Given the description of an element on the screen output the (x, y) to click on. 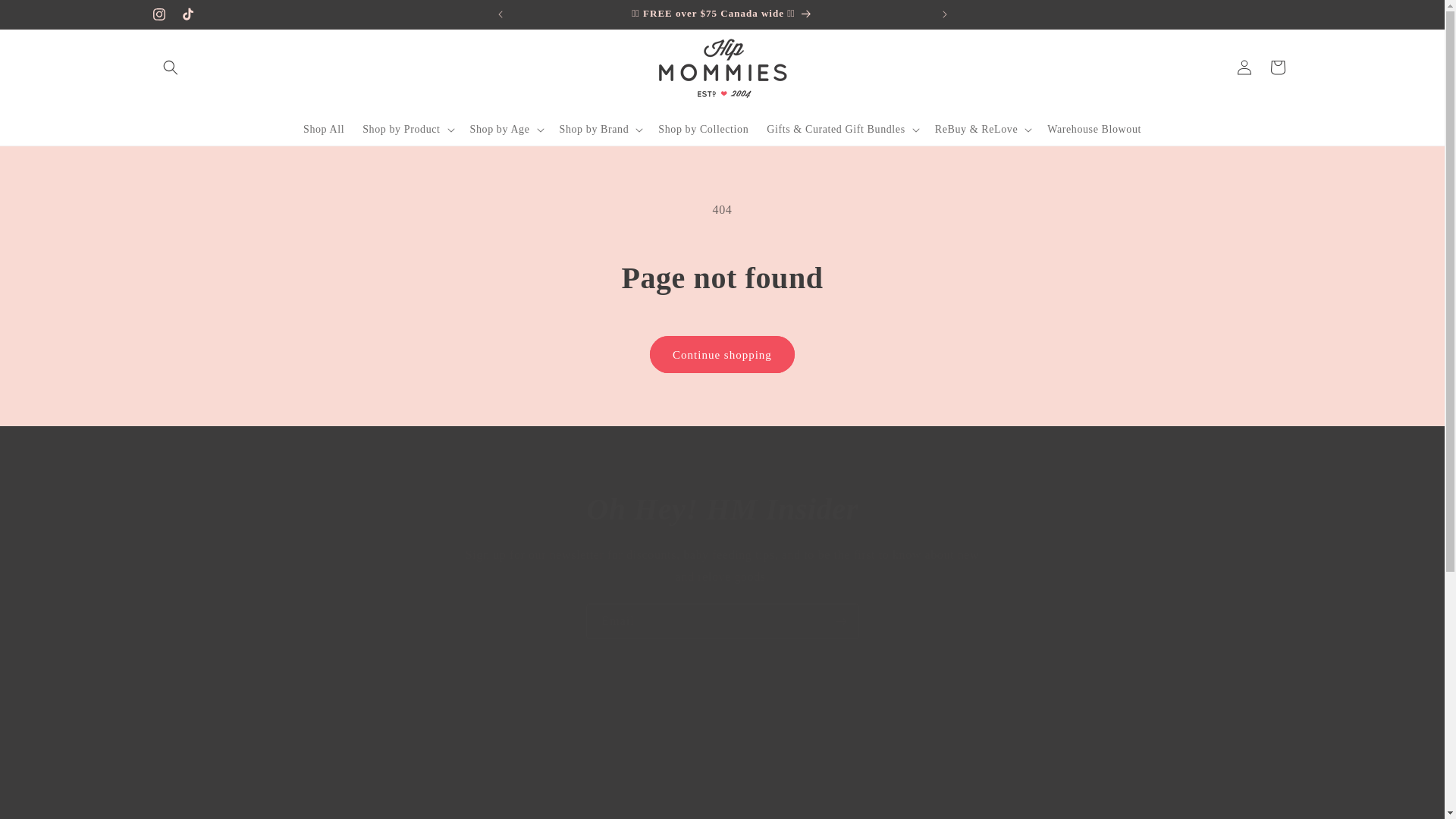
TikTok (187, 14)
Email (722, 621)
Instagram (158, 14)
Oh Hey! HM Insider (721, 509)
Skip to content (46, 18)
